Given the description of an element on the screen output the (x, y) to click on. 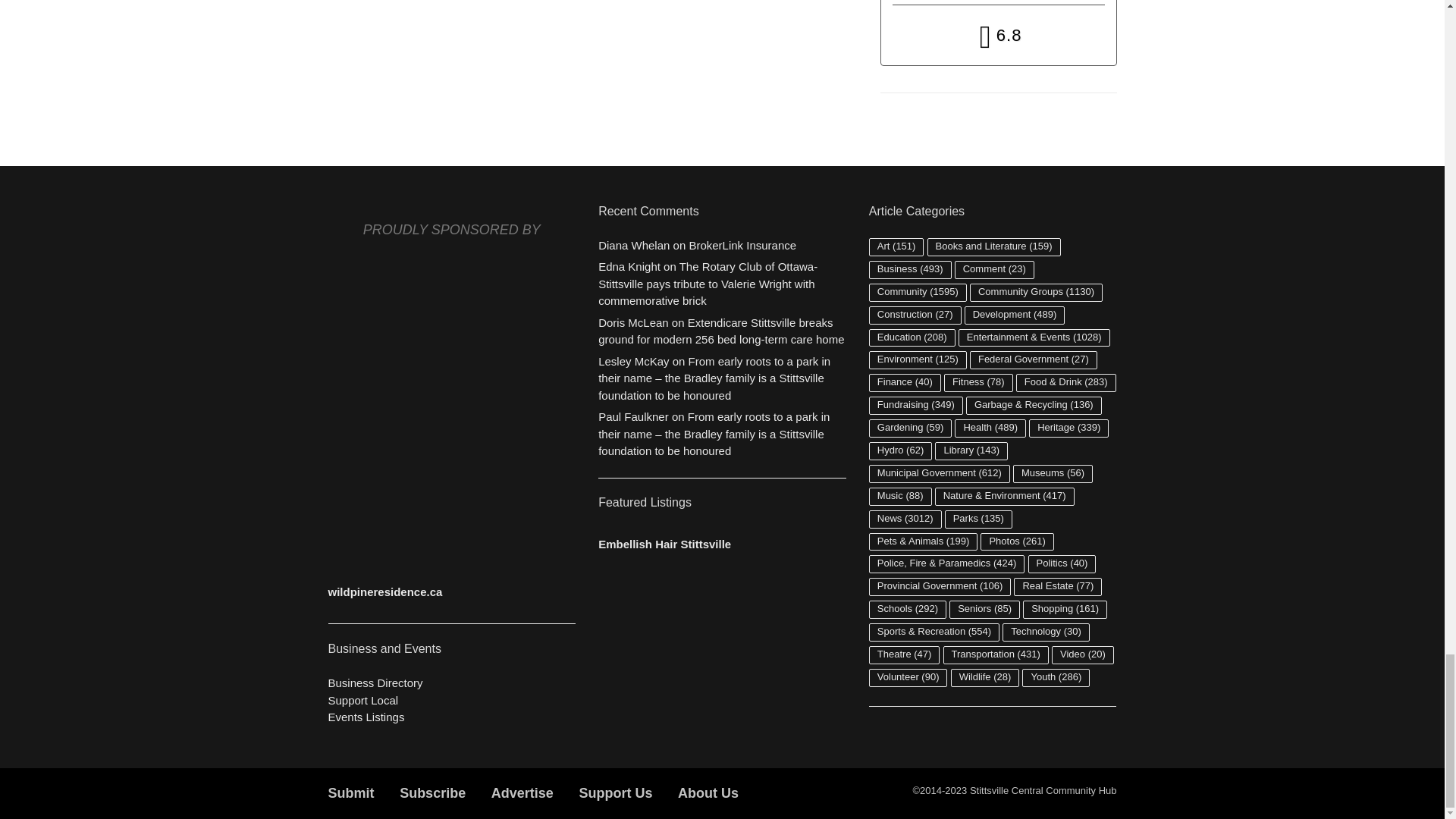
Wind chill (998, 36)
